Given the description of an element on the screen output the (x, y) to click on. 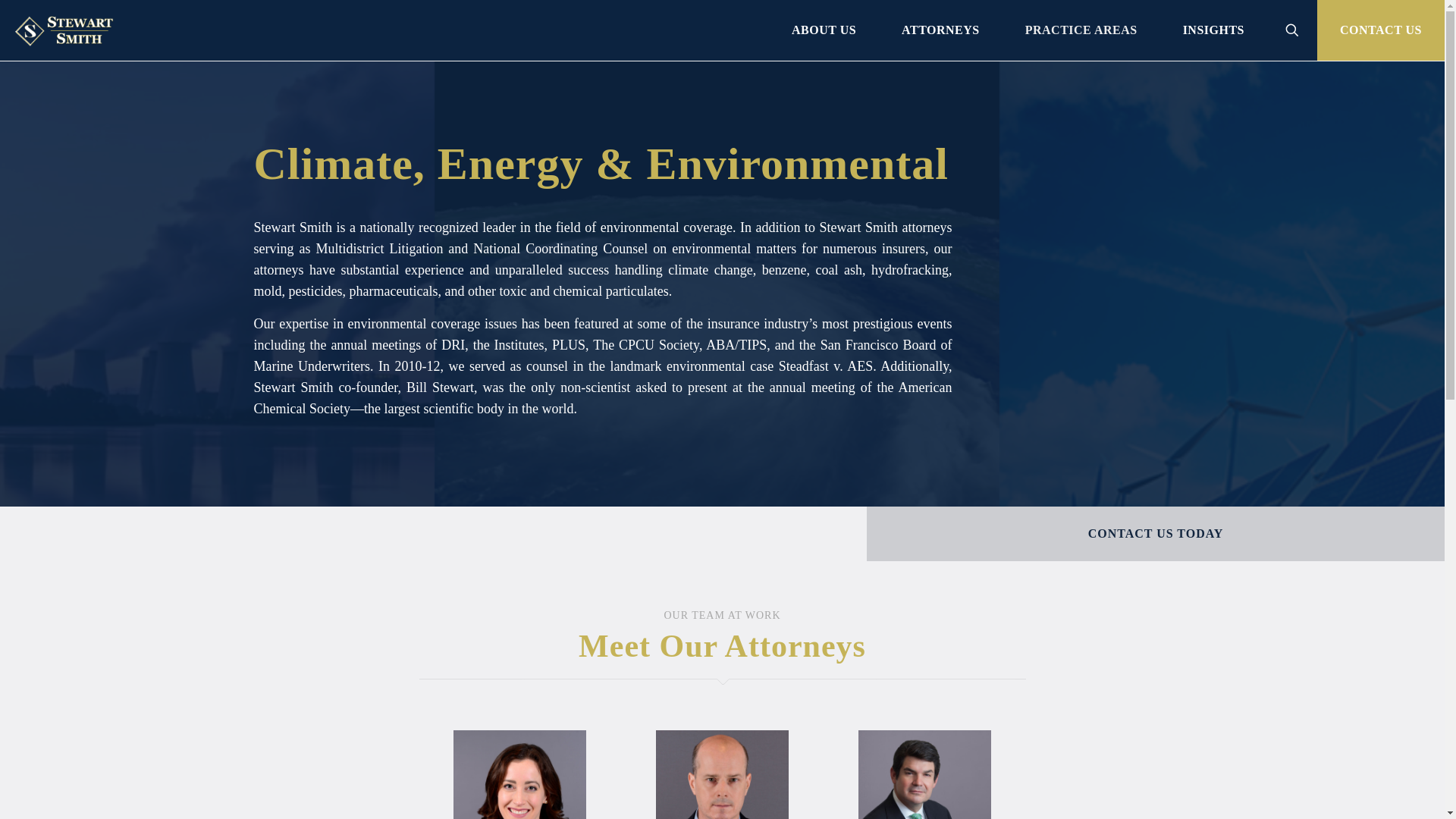
INSIGHTS (1213, 30)
ATTORNEYS (941, 30)
ABOUT US (823, 30)
PRACTICE AREAS (1081, 30)
